Given the description of an element on the screen output the (x, y) to click on. 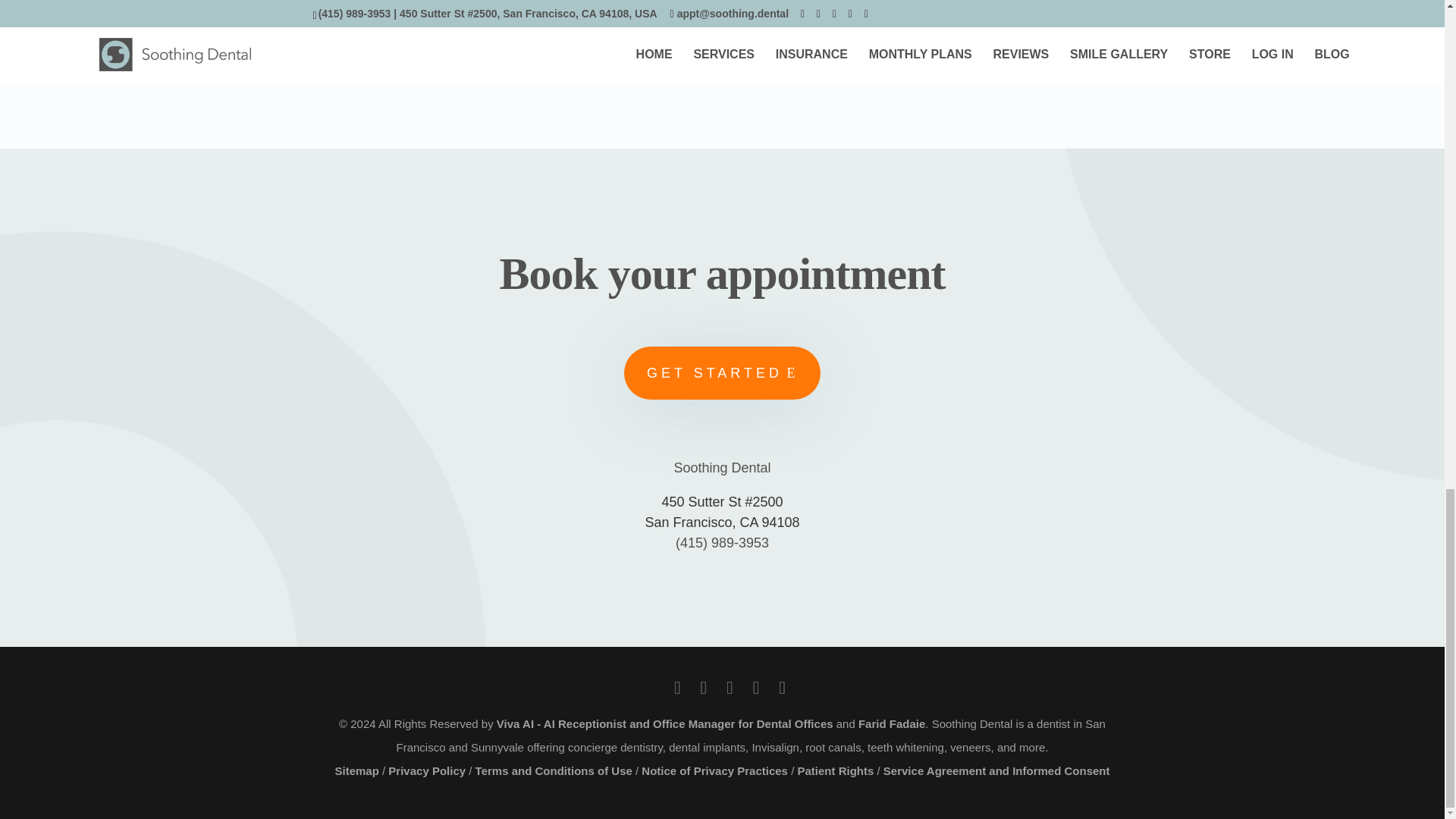
GET STARTED (722, 373)
Privacy Policy (426, 770)
Farid Fadaie (891, 723)
Sitemap (356, 770)
